Given the description of an element on the screen output the (x, y) to click on. 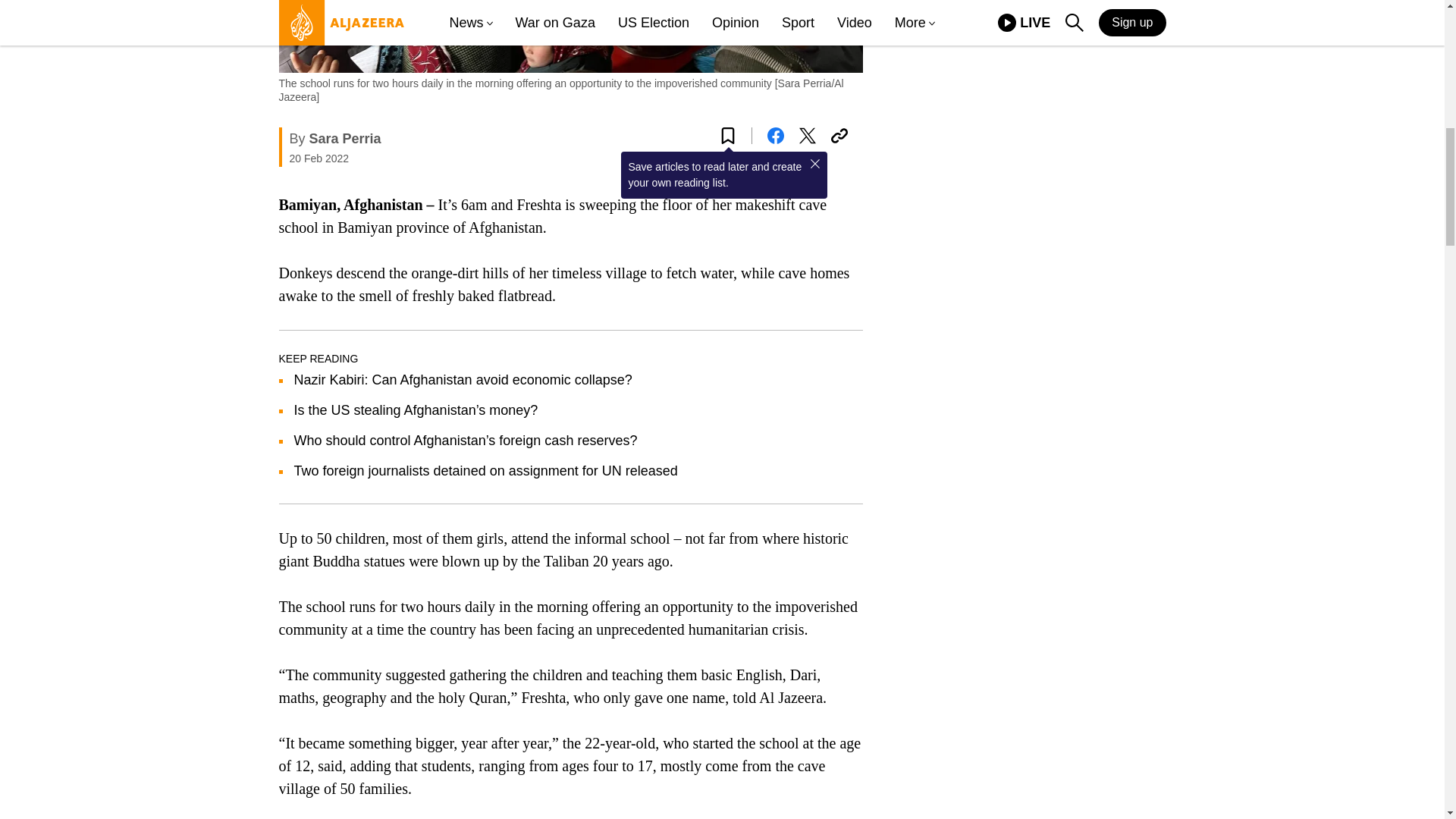
twitter (807, 135)
facebook (775, 135)
copylink (839, 135)
twitter (807, 135)
Close Tooltip (814, 163)
Nazir Kabiri: Can Afghanistan avoid economic collapse? (462, 379)
facebook (775, 135)
copylink (839, 135)
